Given the description of an element on the screen output the (x, y) to click on. 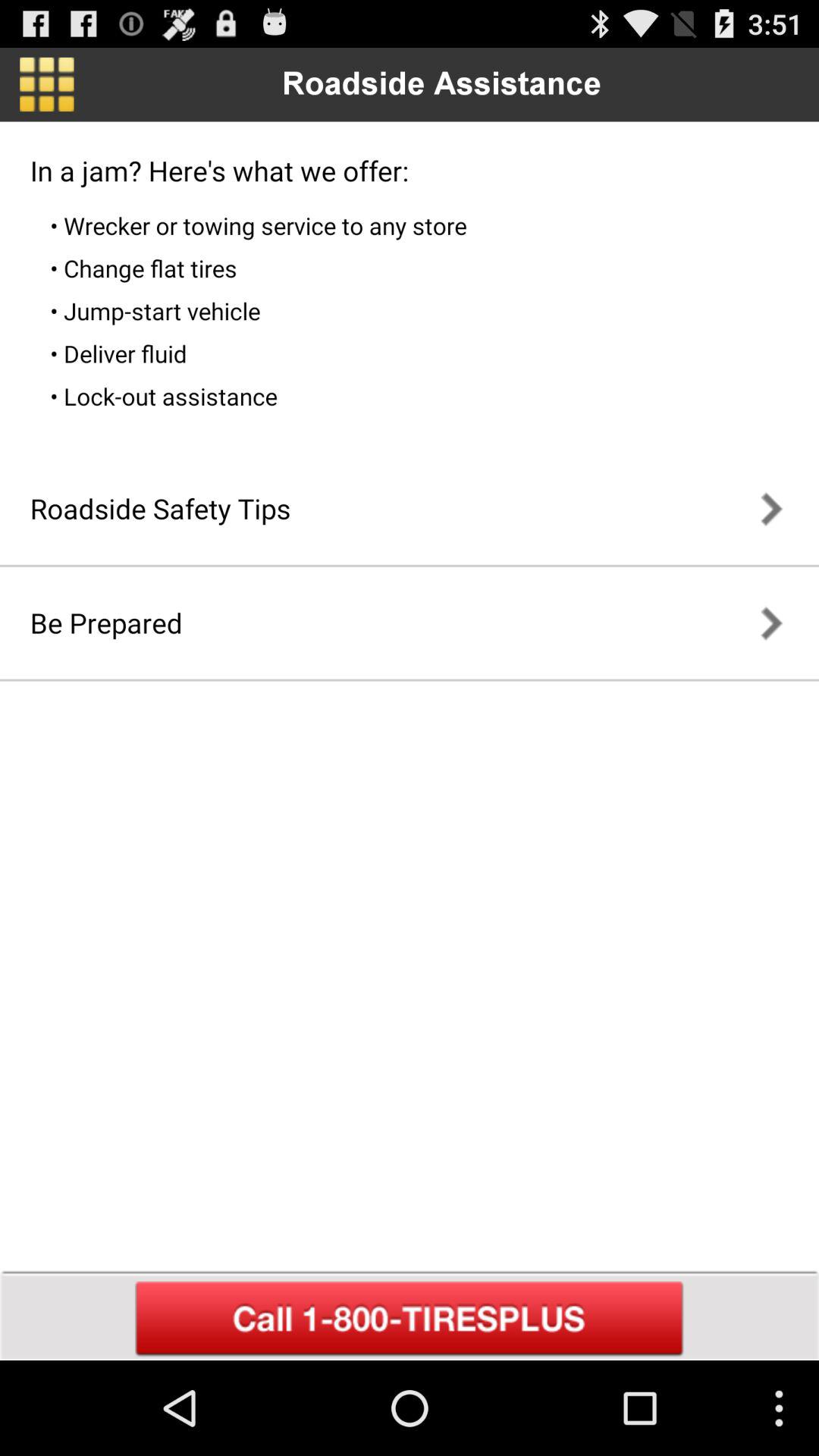
call for assistance (409, 1319)
